Given the description of an element on the screen output the (x, y) to click on. 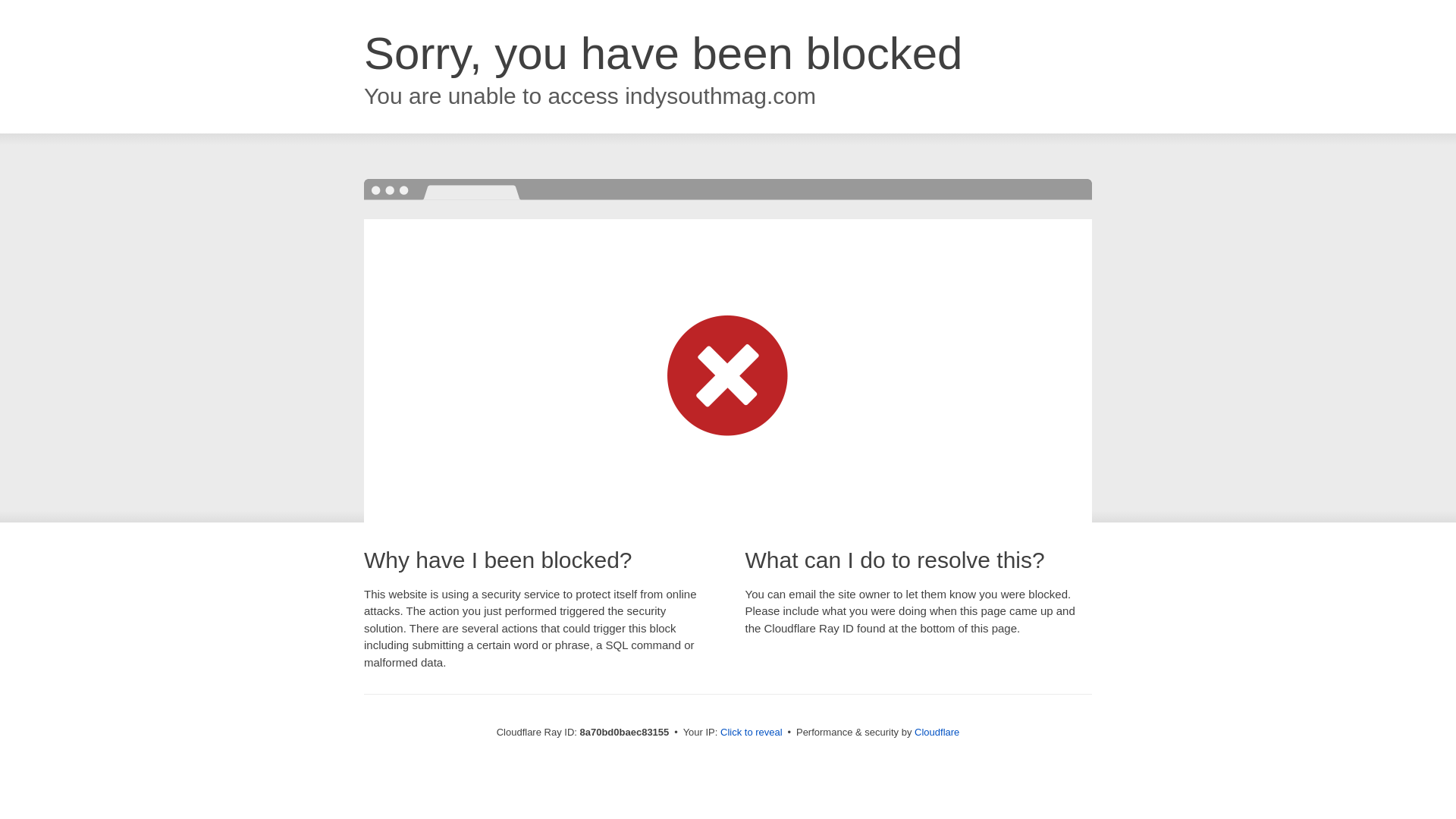
Click to reveal (751, 732)
Cloudflare (936, 731)
